Given the description of an element on the screen output the (x, y) to click on. 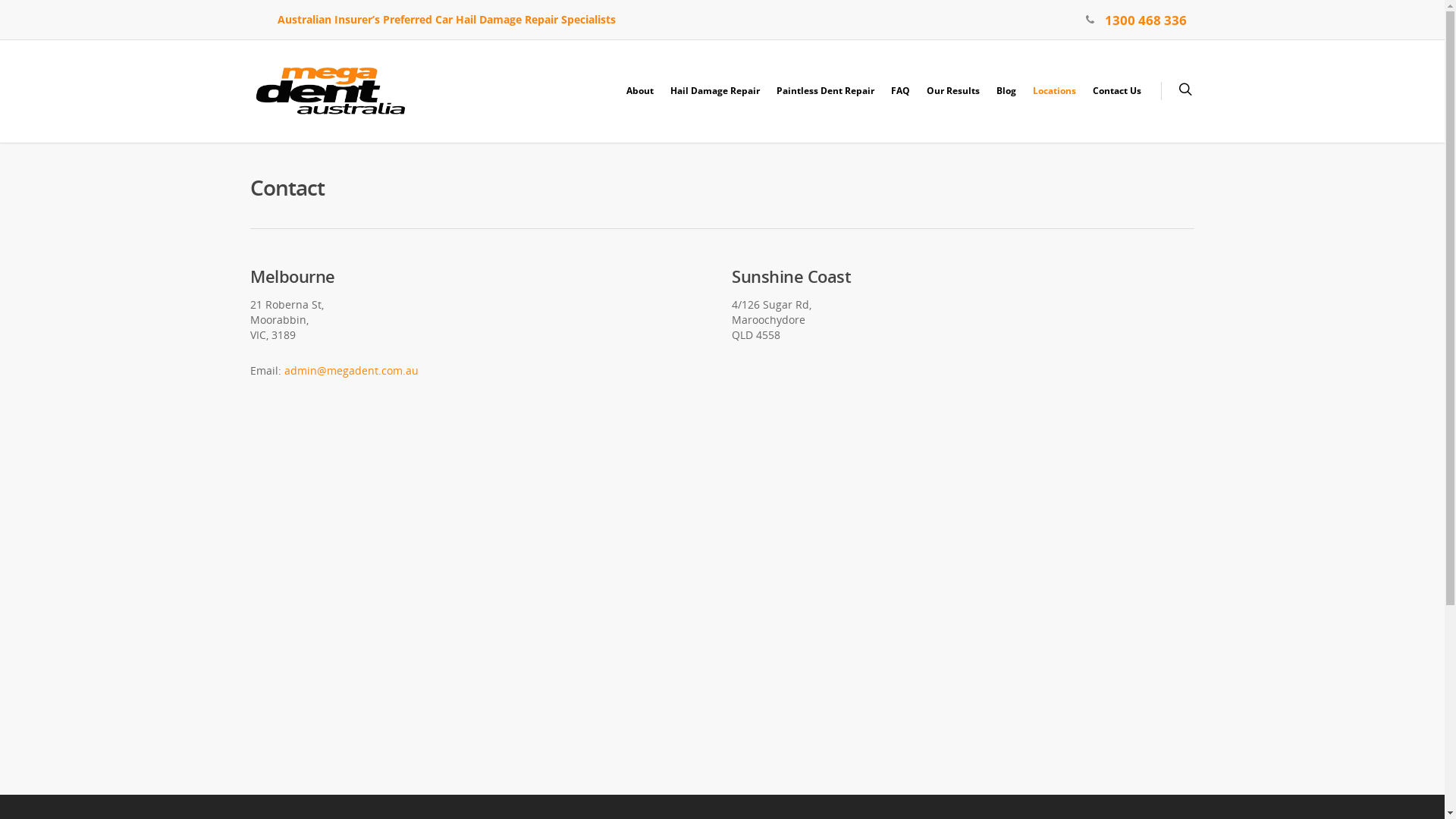
About Element type: text (639, 101)
Paintless Dent Repair Element type: text (824, 101)
1300 468 336 Element type: text (1145, 19)
Hail Damage Repair Element type: text (714, 101)
Our Results Element type: text (953, 101)
FAQ Element type: text (900, 101)
Contact Us Element type: text (1116, 101)
admin@megadent.com.au Element type: text (351, 370)
Locations Element type: text (1054, 101)
Blog Element type: text (1005, 101)
